Given the description of an element on the screen output the (x, y) to click on. 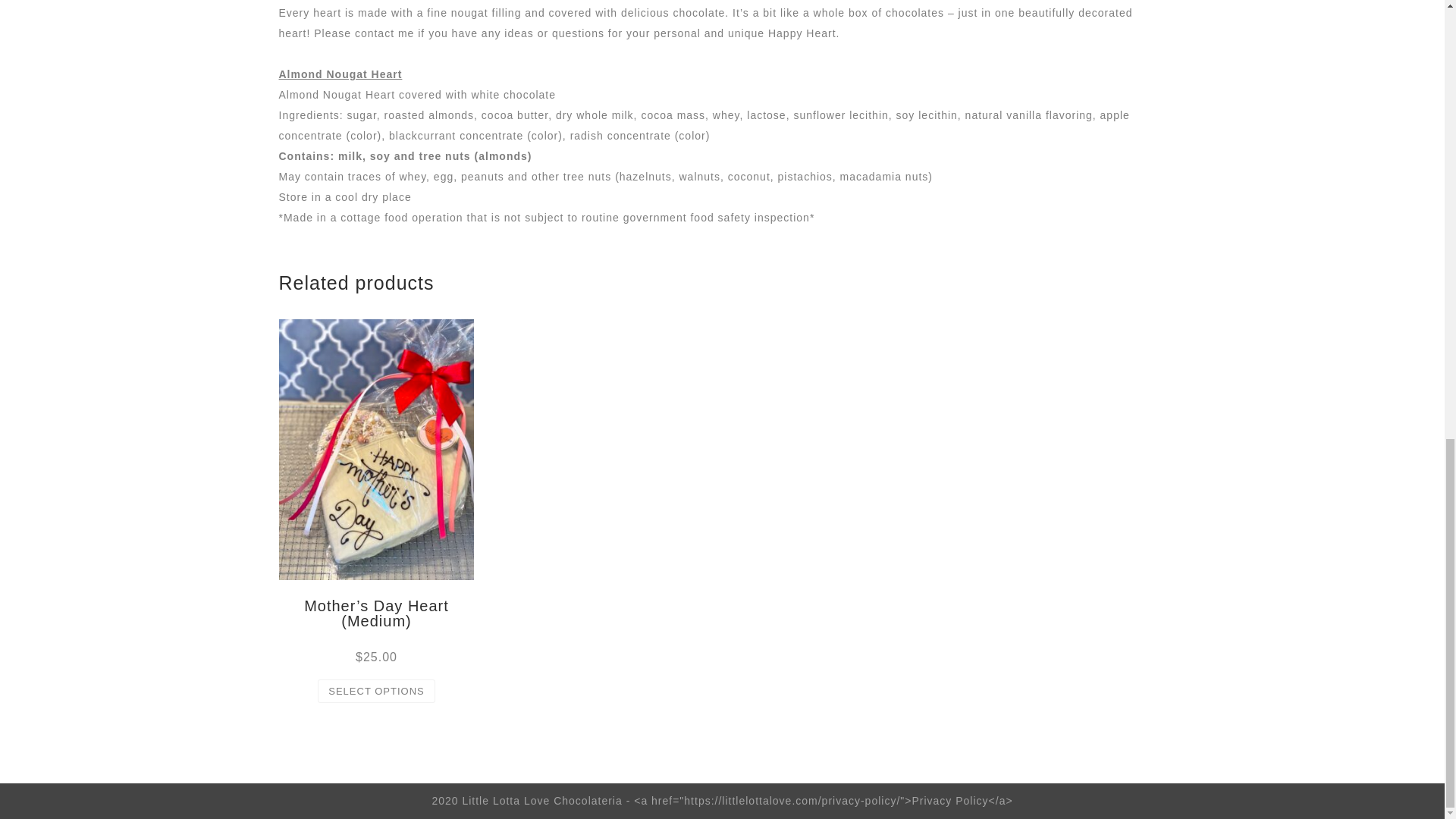
SELECT OPTIONS (375, 690)
